Given the description of an element on the screen output the (x, y) to click on. 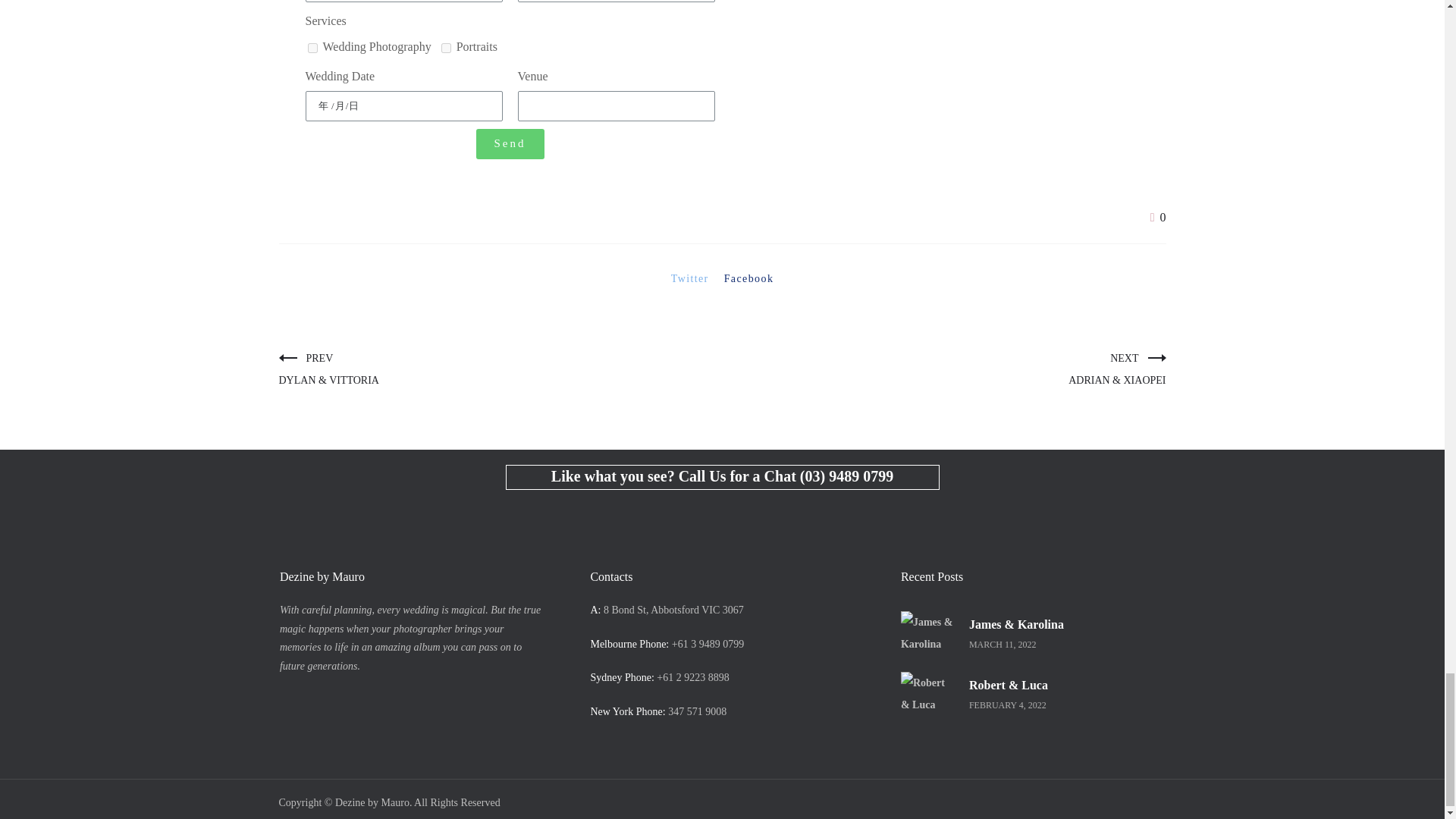
Send (510, 143)
Wedding Photography (312, 48)
Portraits (446, 48)
